Given the description of an element on the screen output the (x, y) to click on. 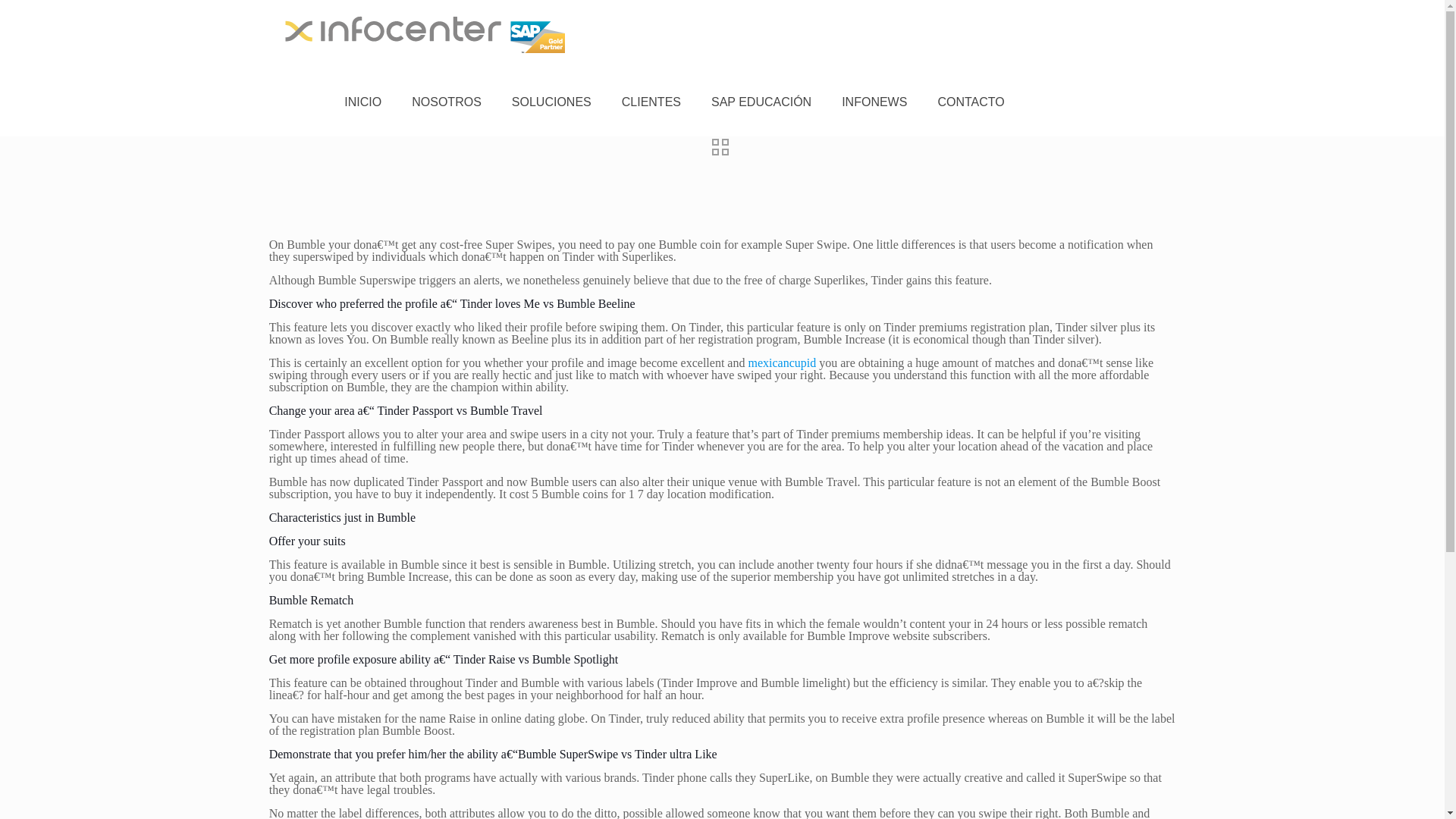
CONTACTO (970, 101)
INICIO (362, 101)
NOSOTROS (446, 101)
SOLUCIONES (551, 101)
mexicancupid (781, 362)
INFOCENTER (424, 33)
INFONEWS (874, 101)
CLIENTES (651, 101)
